Given the description of an element on the screen output the (x, y) to click on. 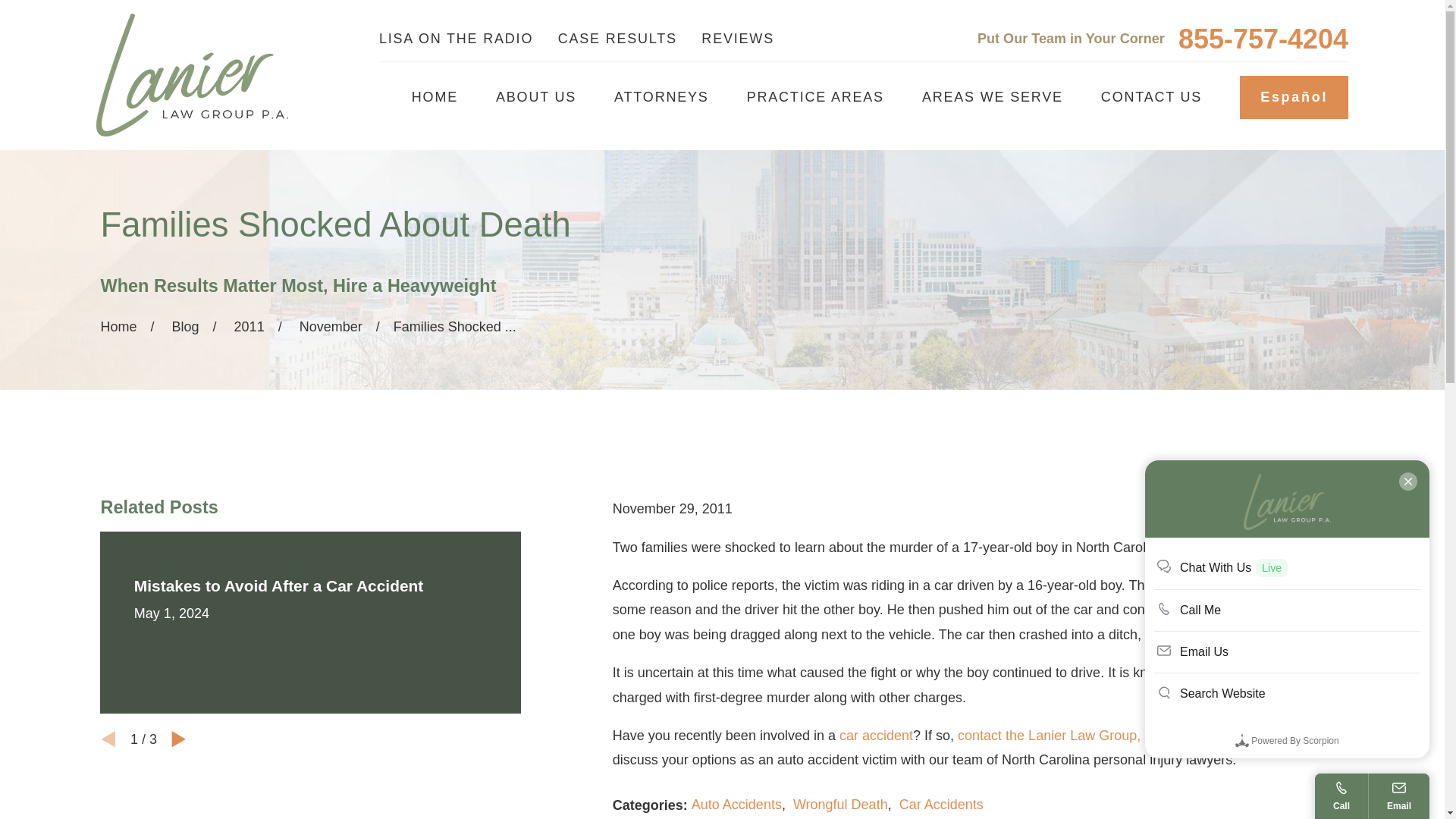
Go Home (118, 326)
855-757-4204 (1262, 39)
ABOUT US (536, 97)
View previous item (108, 739)
ATTORNEYS (661, 97)
HOME (435, 97)
Lanier Law Group, P.A. (192, 74)
CASE RESULTS (617, 38)
Auto Accident (876, 735)
PRACTICE AREAS (814, 97)
REVIEWS (737, 38)
View next item (178, 739)
LISA ON THE RADIO (455, 38)
Home (192, 74)
